Given the description of an element on the screen output the (x, y) to click on. 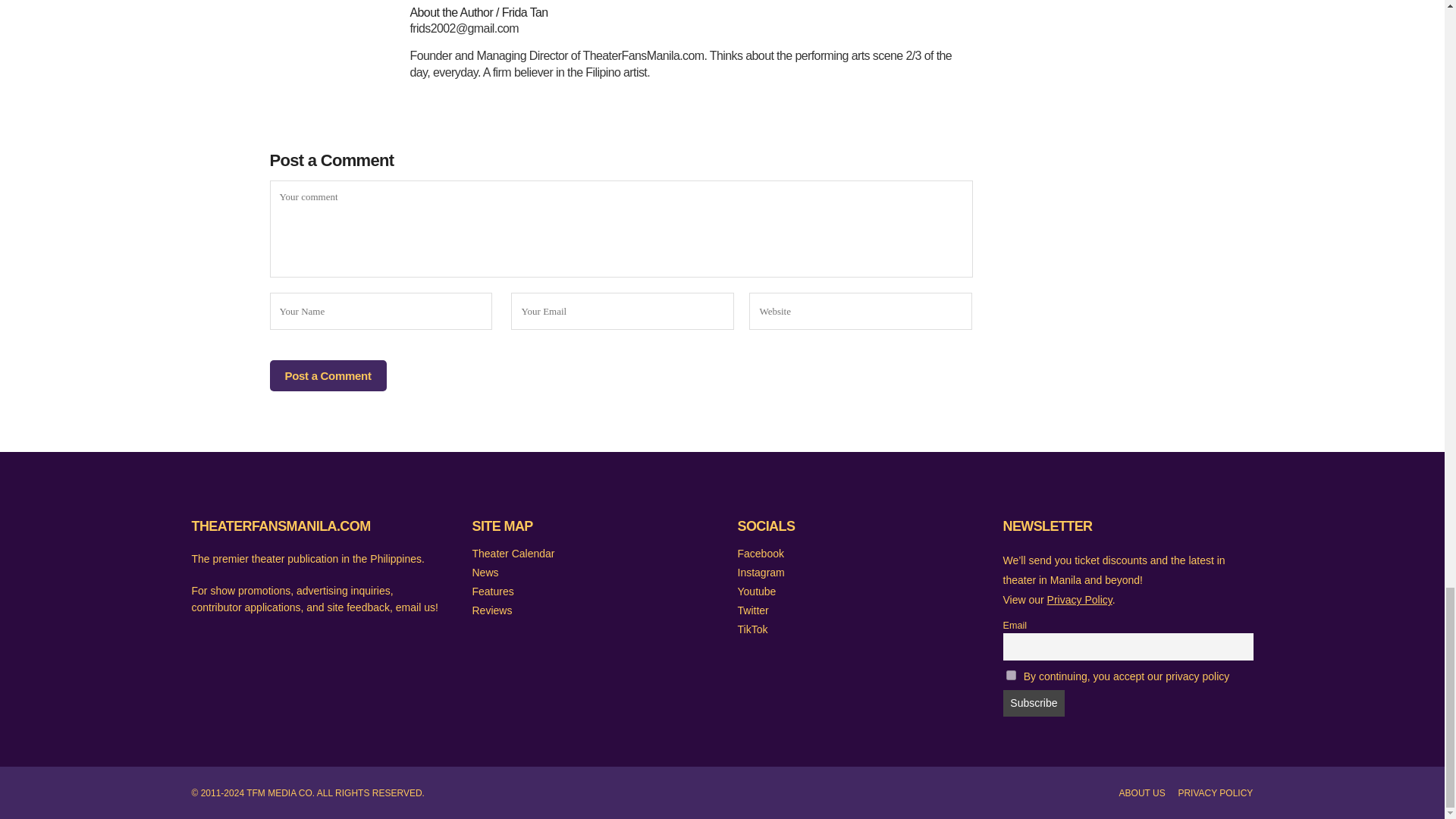
on (1010, 675)
Post a Comment (328, 375)
Subscribe (1033, 703)
